Given the description of an element on the screen output the (x, y) to click on. 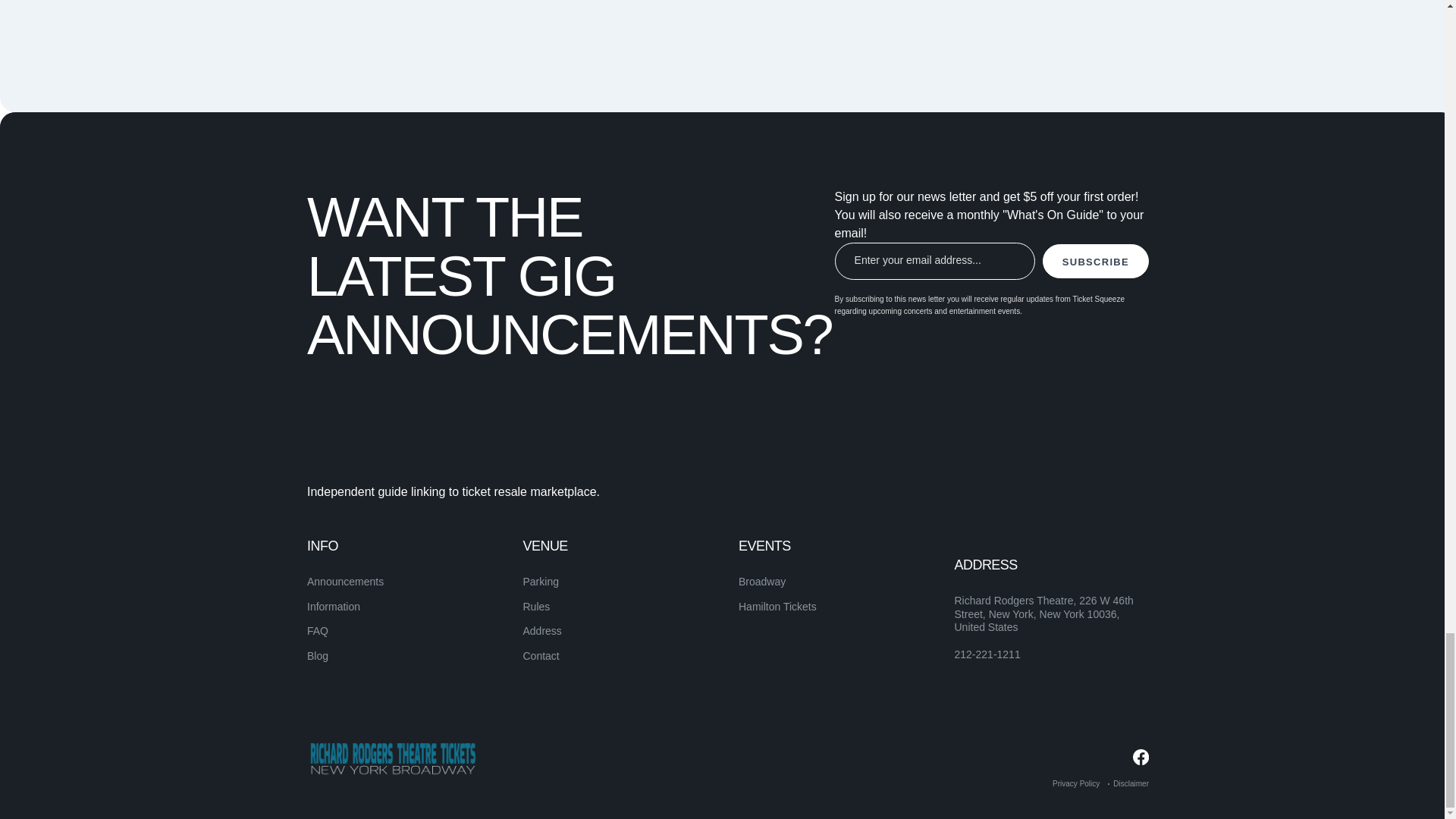
212-221-1211 (986, 654)
FAQ (318, 630)
SUBSCRIBE (1095, 261)
Broadway (762, 581)
venue map (905, 10)
Privacy Policy (1075, 783)
Information (333, 606)
Hamilton Tickets (777, 606)
Blog (318, 655)
Parking (540, 581)
